Given the description of an element on the screen output the (x, y) to click on. 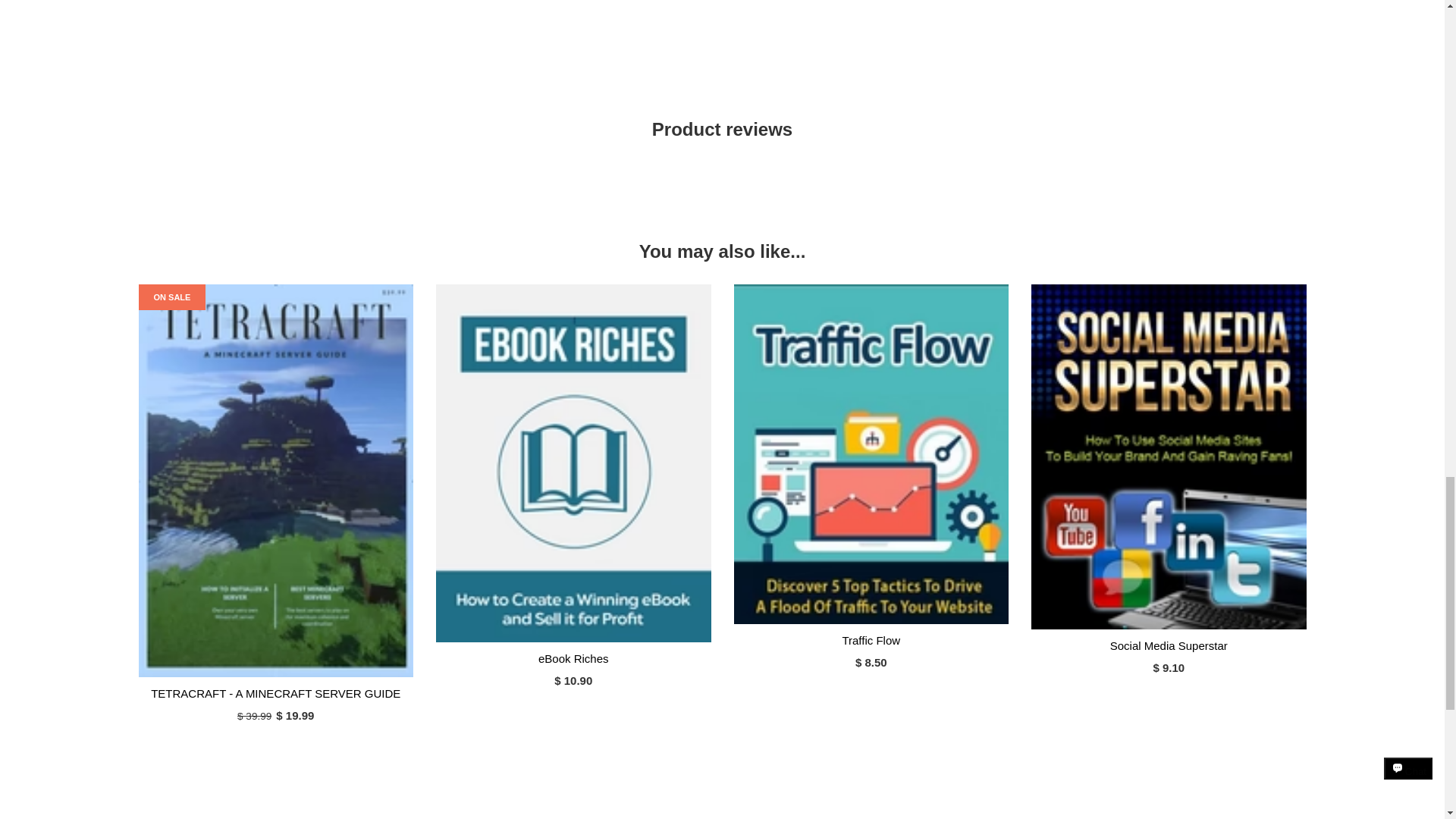
Traffic Flow (870, 640)
TETRACRAFT - A MINECRAFT SERVER GUIDE (275, 693)
eBook Riches (573, 658)
Social Media Superstar (1168, 645)
